Given the description of an element on the screen output the (x, y) to click on. 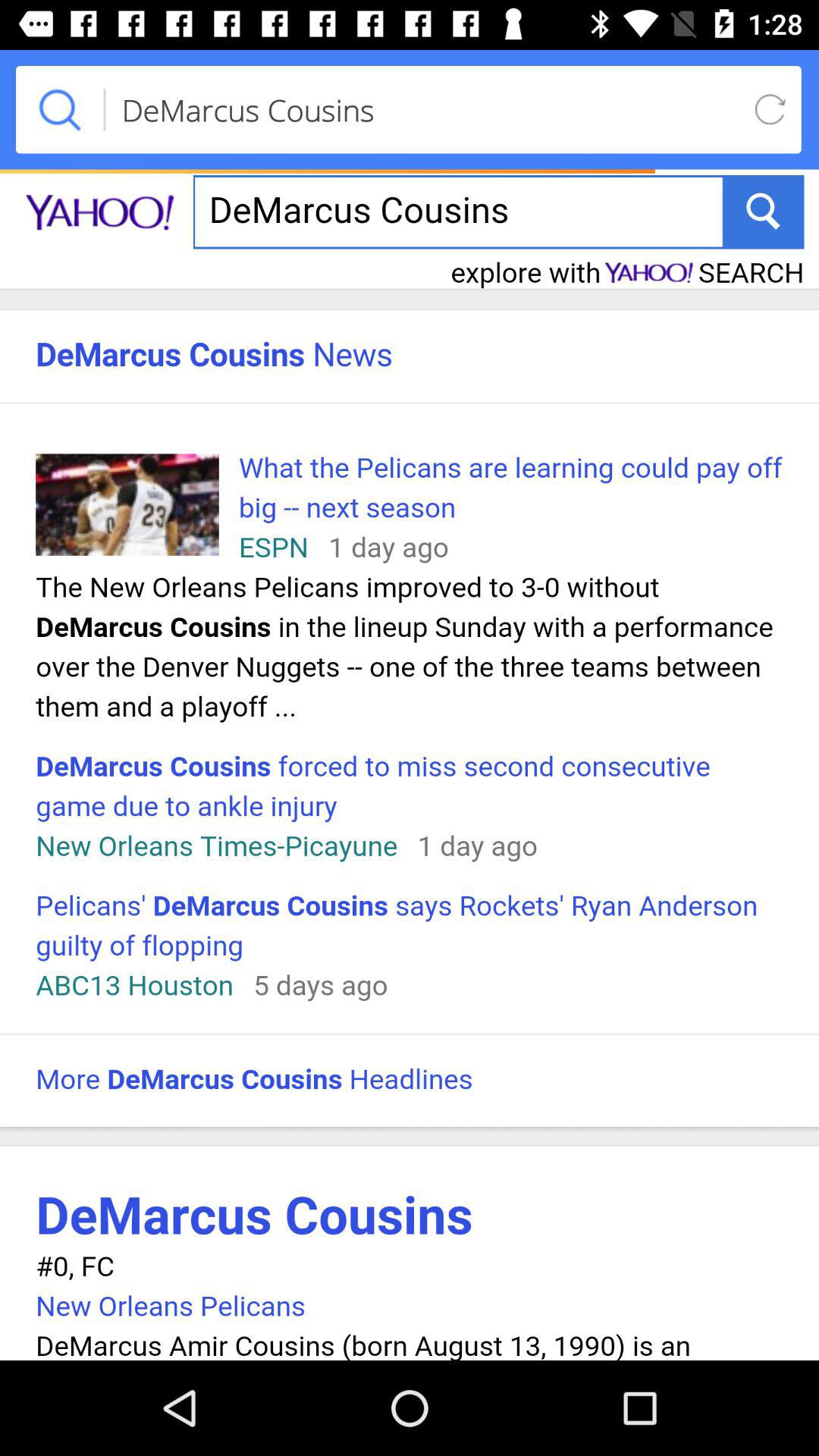
search results (409, 761)
